Given the description of an element on the screen output the (x, y) to click on. 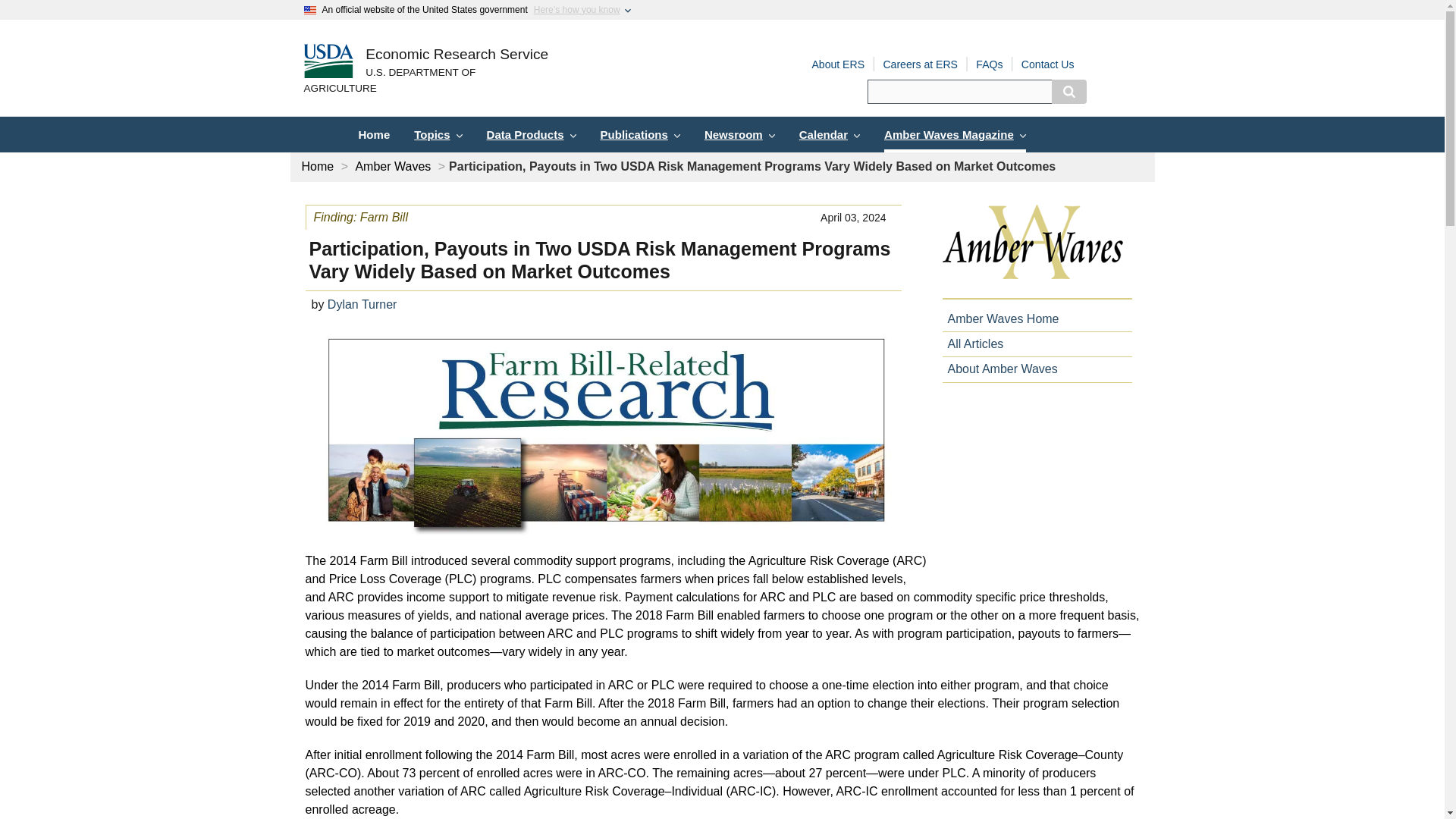
Newsroom (740, 134)
Amber Waves Home (1000, 318)
Careers at ERS (920, 63)
Topics (437, 134)
Amber Waves home (1036, 251)
Publications (640, 134)
Home (317, 165)
Dylan Turner (362, 304)
Home (373, 134)
Calendar (829, 134)
